Given the description of an element on the screen output the (x, y) to click on. 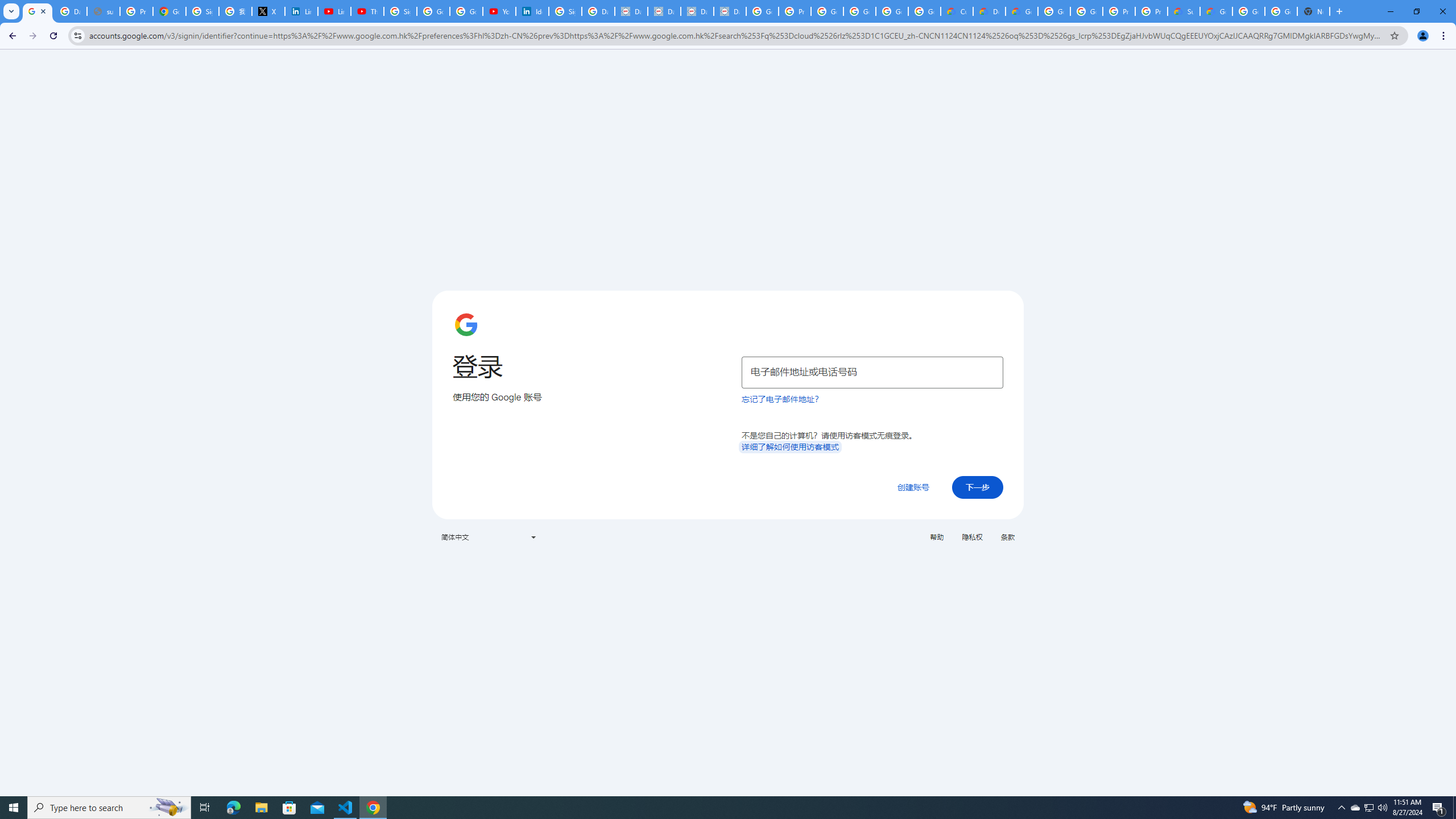
Customer Care | Google Cloud (957, 11)
Google Cloud Platform (1281, 11)
support.google.com - Network error (103, 11)
Google Cloud Service Health (1216, 11)
